Given the description of an element on the screen output the (x, y) to click on. 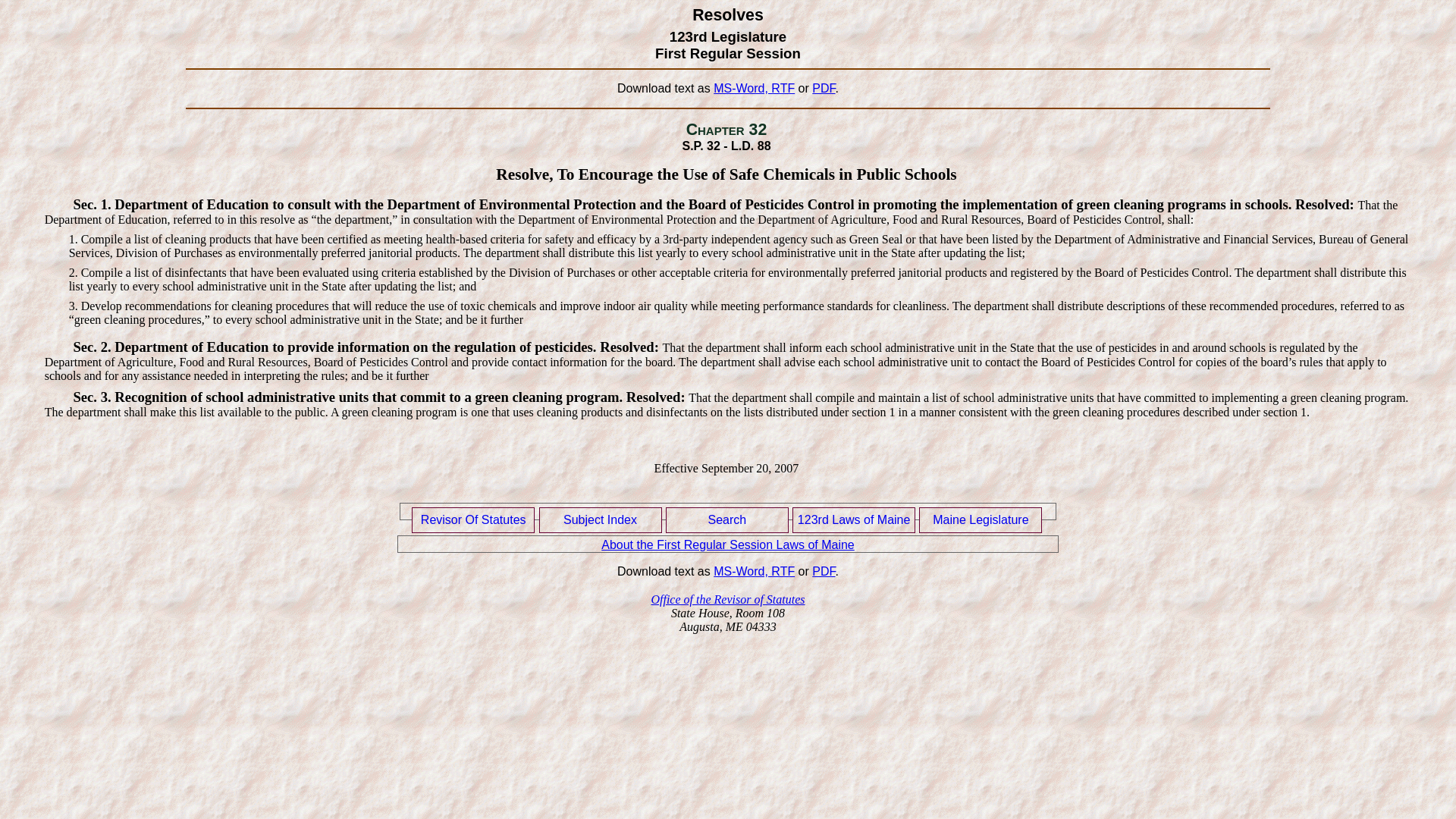
PDF (823, 88)
MS-Word, RTF (753, 88)
Office of the Revisor of Statutes (727, 599)
MS-Word, RTF (753, 571)
PDF (823, 571)
